Given the description of an element on the screen output the (x, y) to click on. 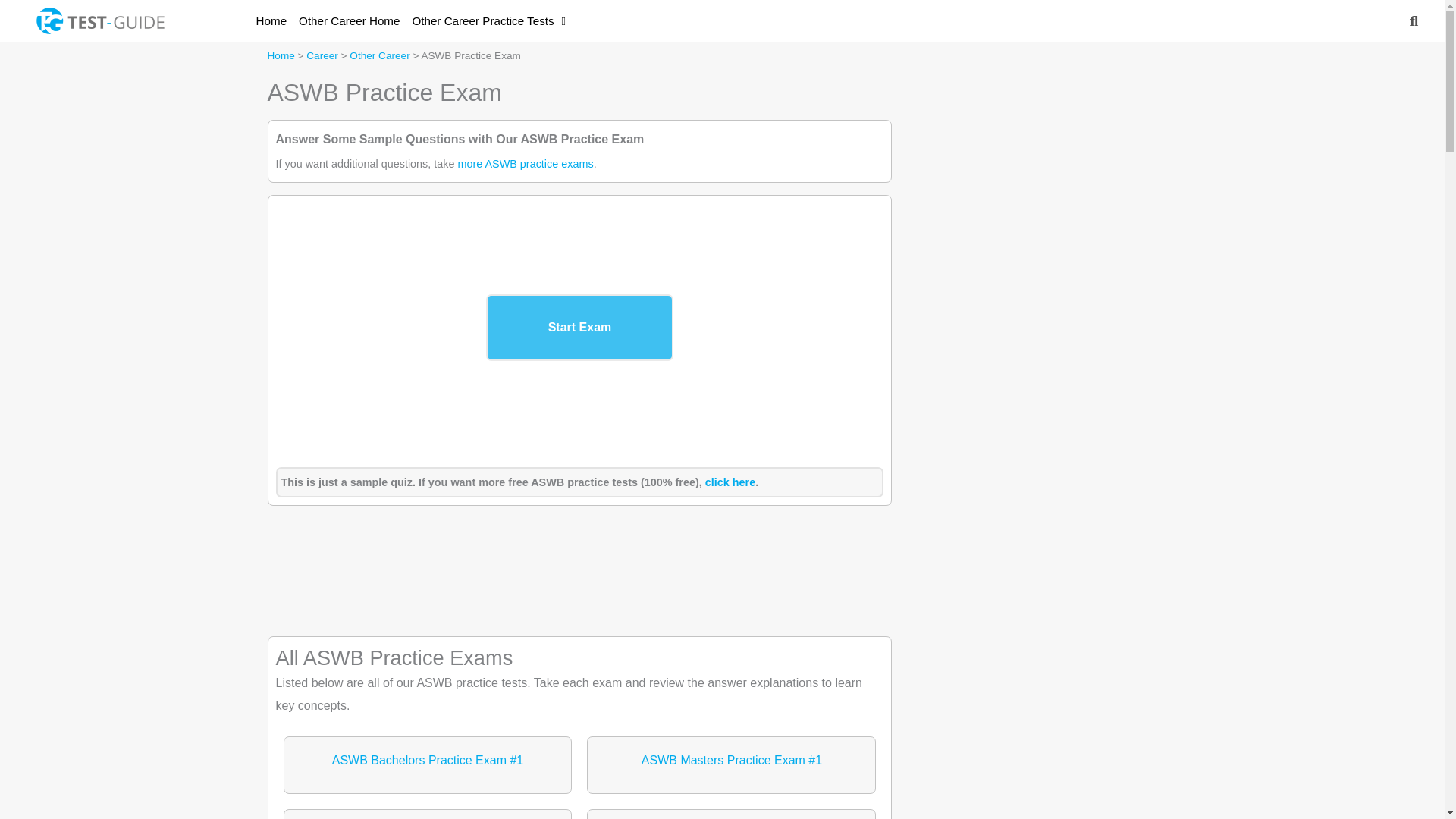
Start Exam (580, 327)
Home (272, 20)
Other Career Practice Tests (489, 20)
Other Career Home (349, 20)
Home (280, 55)
Career (321, 55)
